Given the description of an element on the screen output the (x, y) to click on. 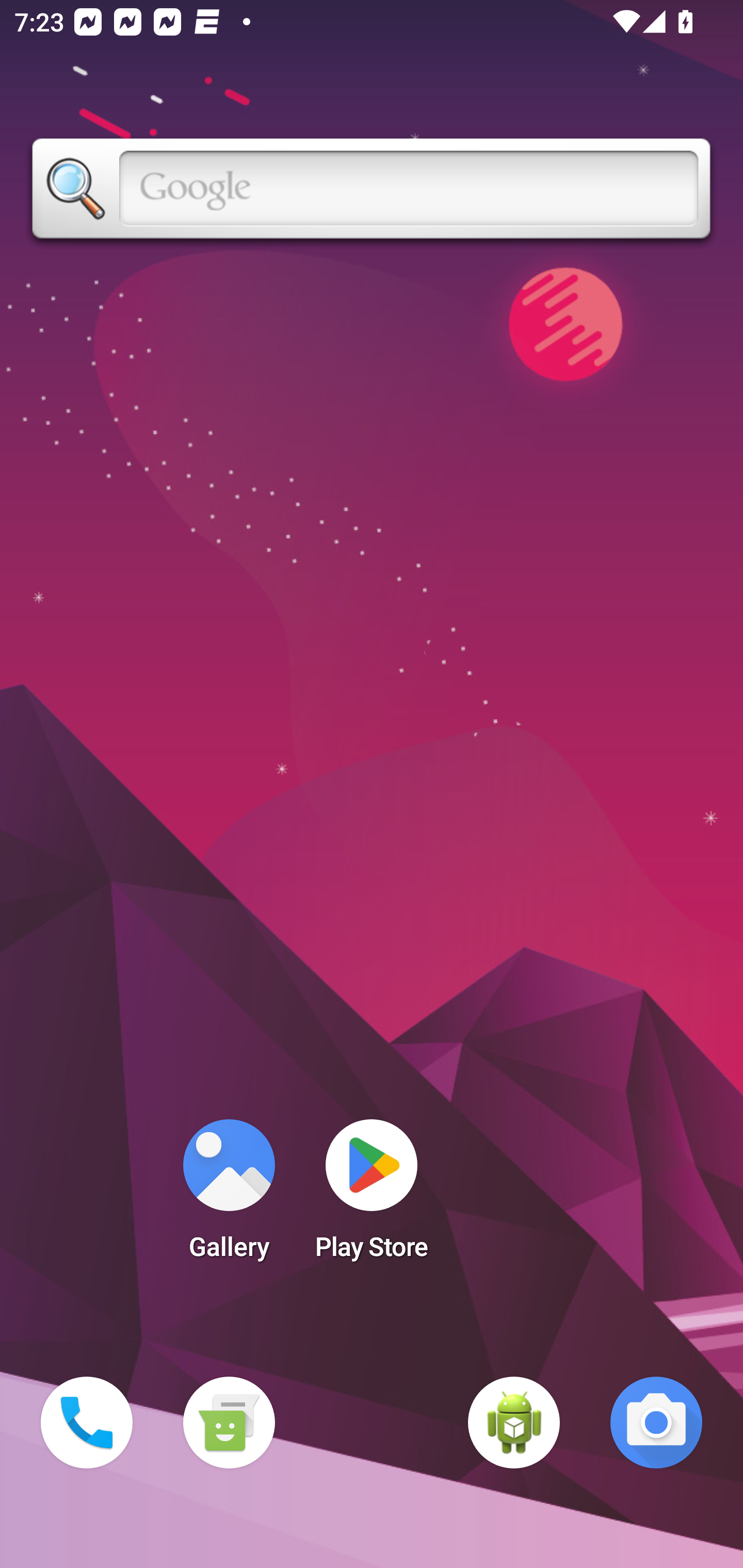
Gallery (228, 1195)
Play Store (371, 1195)
Phone (86, 1422)
Messaging (228, 1422)
WebView Browser Tester (513, 1422)
Camera (656, 1422)
